Given the description of an element on the screen output the (x, y) to click on. 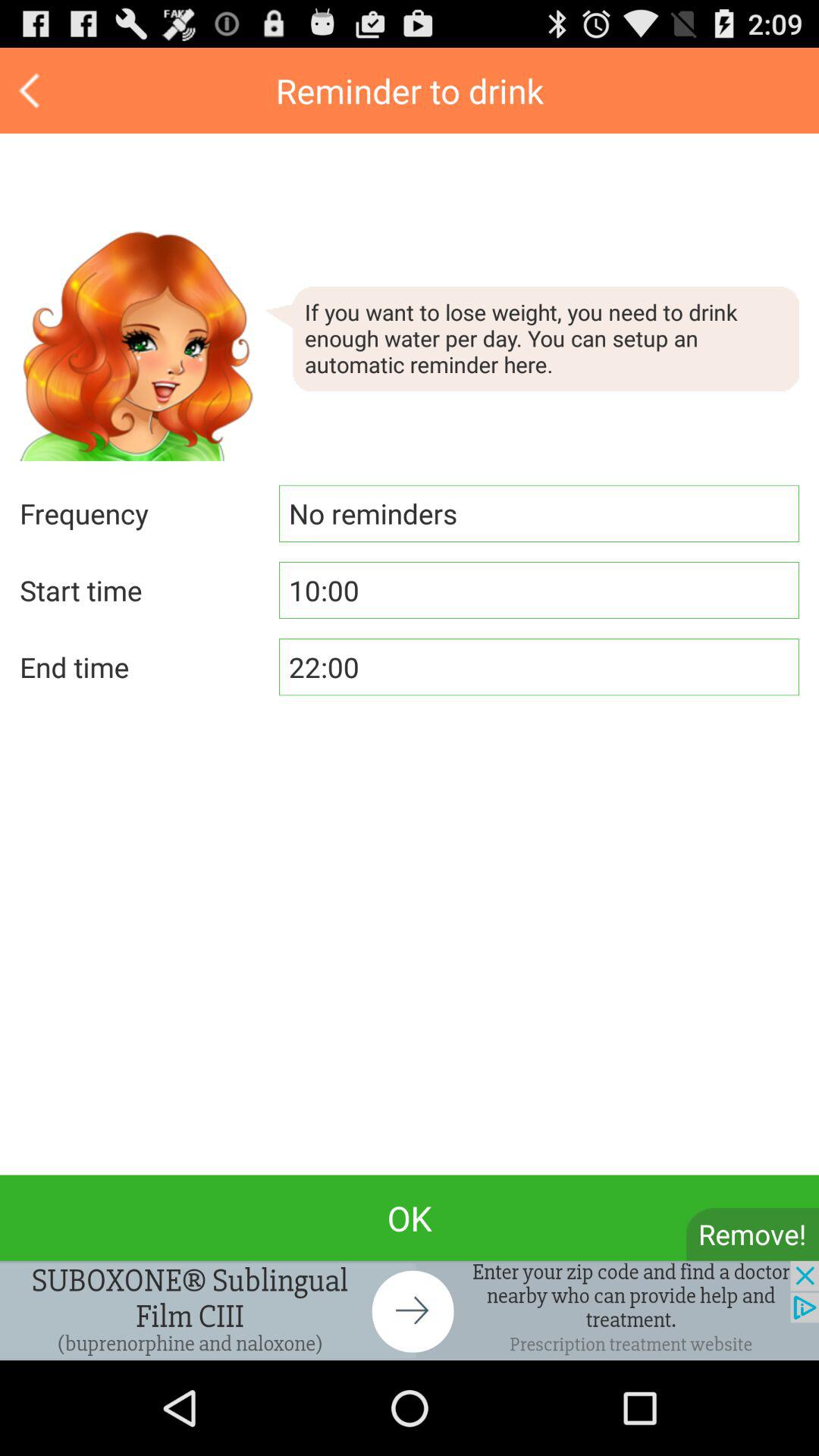
go to previous (31, 90)
